Given the description of an element on the screen output the (x, y) to click on. 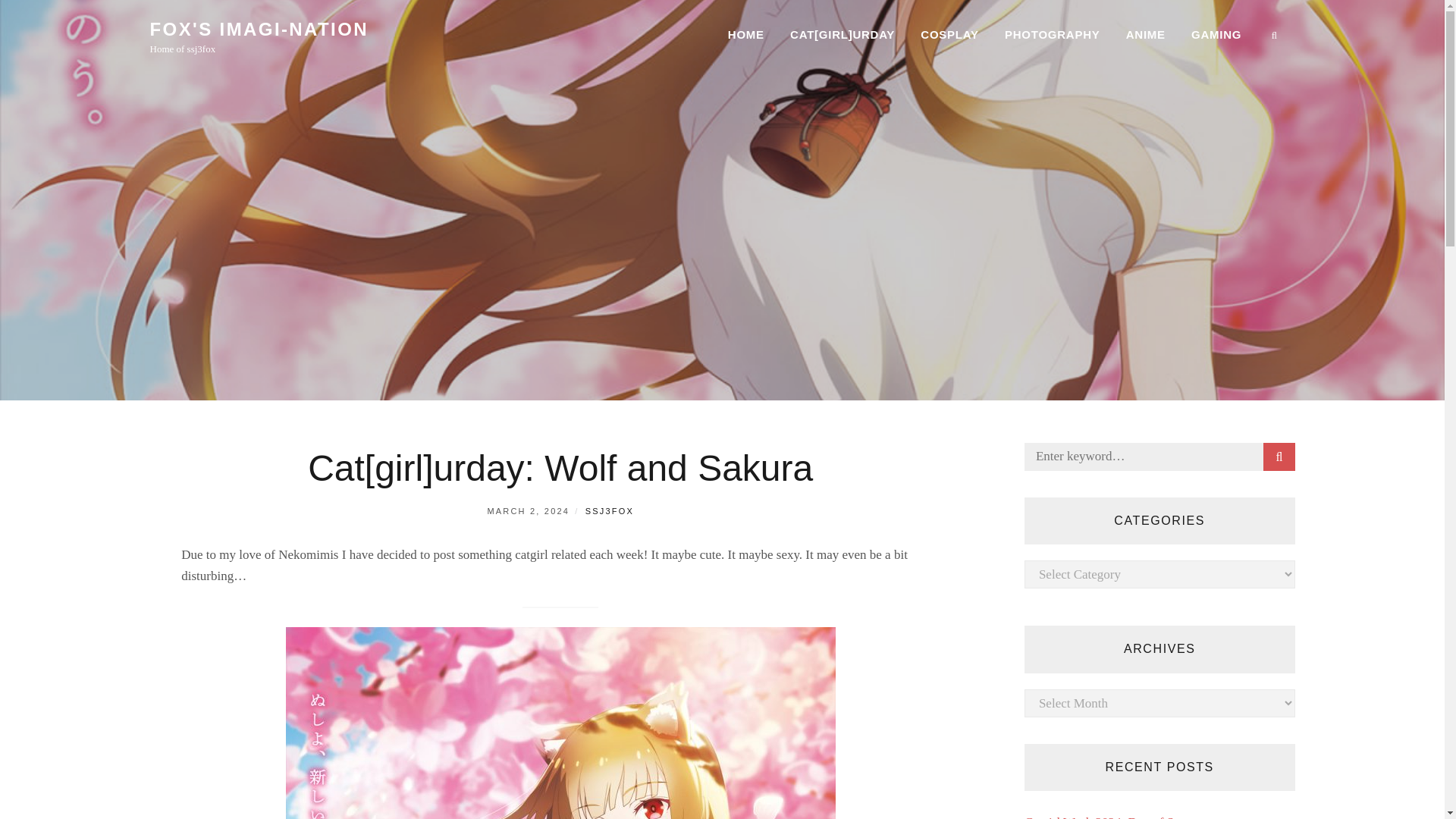
FOX'S IMAGI-NATION (258, 28)
Catgirl Week 2024: Day of Sexy (1108, 816)
ANIME (1145, 34)
SSJ3FOX (609, 510)
COSPLAY (949, 34)
HOME (746, 34)
SEARCH (1279, 456)
PHOTOGRAPHY (1052, 34)
GAMING (1215, 34)
